Given the description of an element on the screen output the (x, y) to click on. 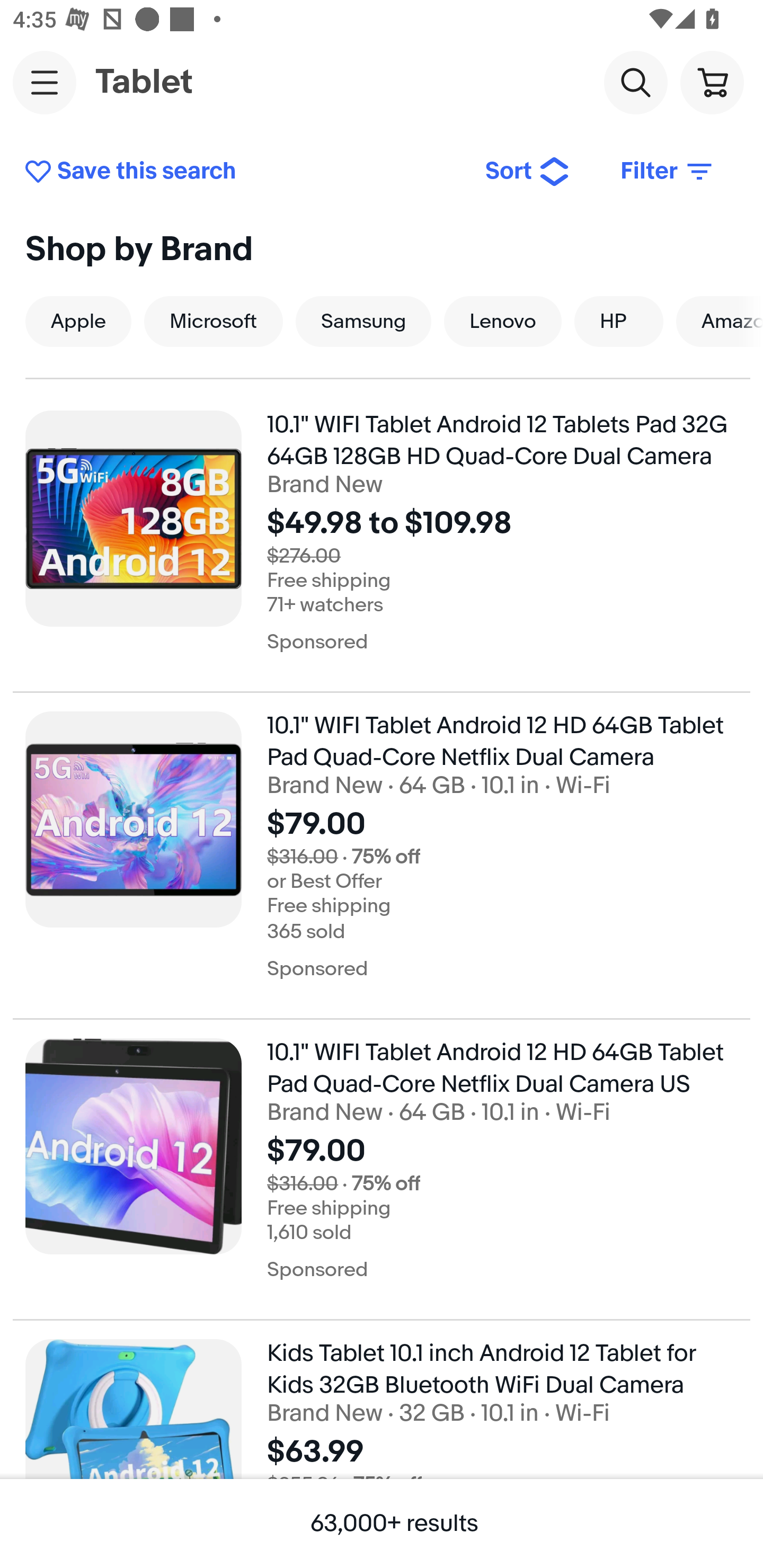
Main navigation, open (44, 82)
Search (635, 81)
Cart button shopping cart (711, 81)
Save this search (241, 171)
Sort (527, 171)
Filter (667, 171)
Apple Apple, Brand (78, 321)
Microsoft Microsoft, Brand (213, 321)
Samsung Samsung, Brand (363, 321)
Lenovo Lenovo, Brand (502, 321)
HP HP, Brand (618, 321)
Amazon Amazon, Brand (719, 321)
